Given the description of an element on the screen output the (x, y) to click on. 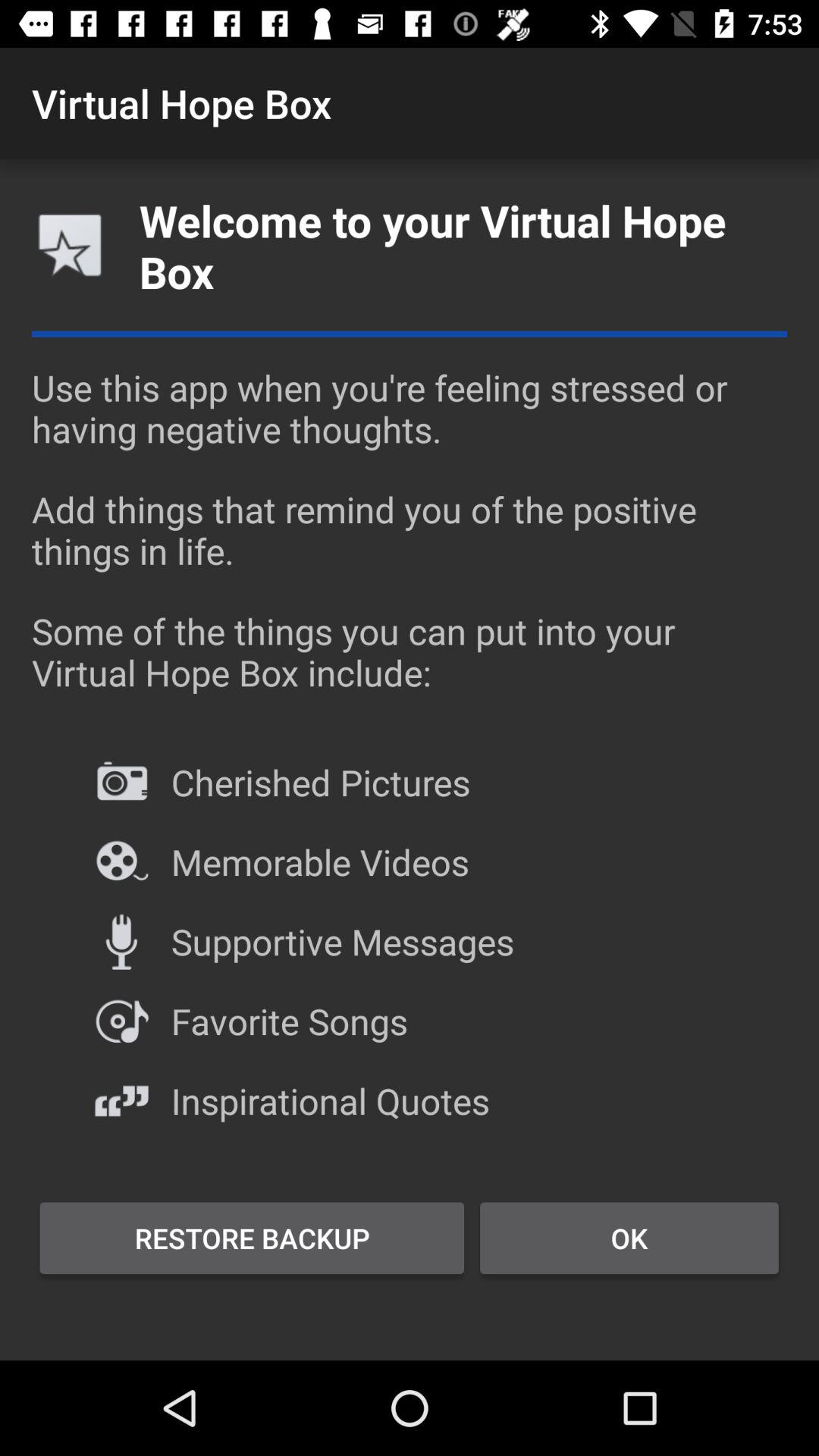
click icon below inspirational quotes icon (629, 1237)
